Given the description of an element on the screen output the (x, y) to click on. 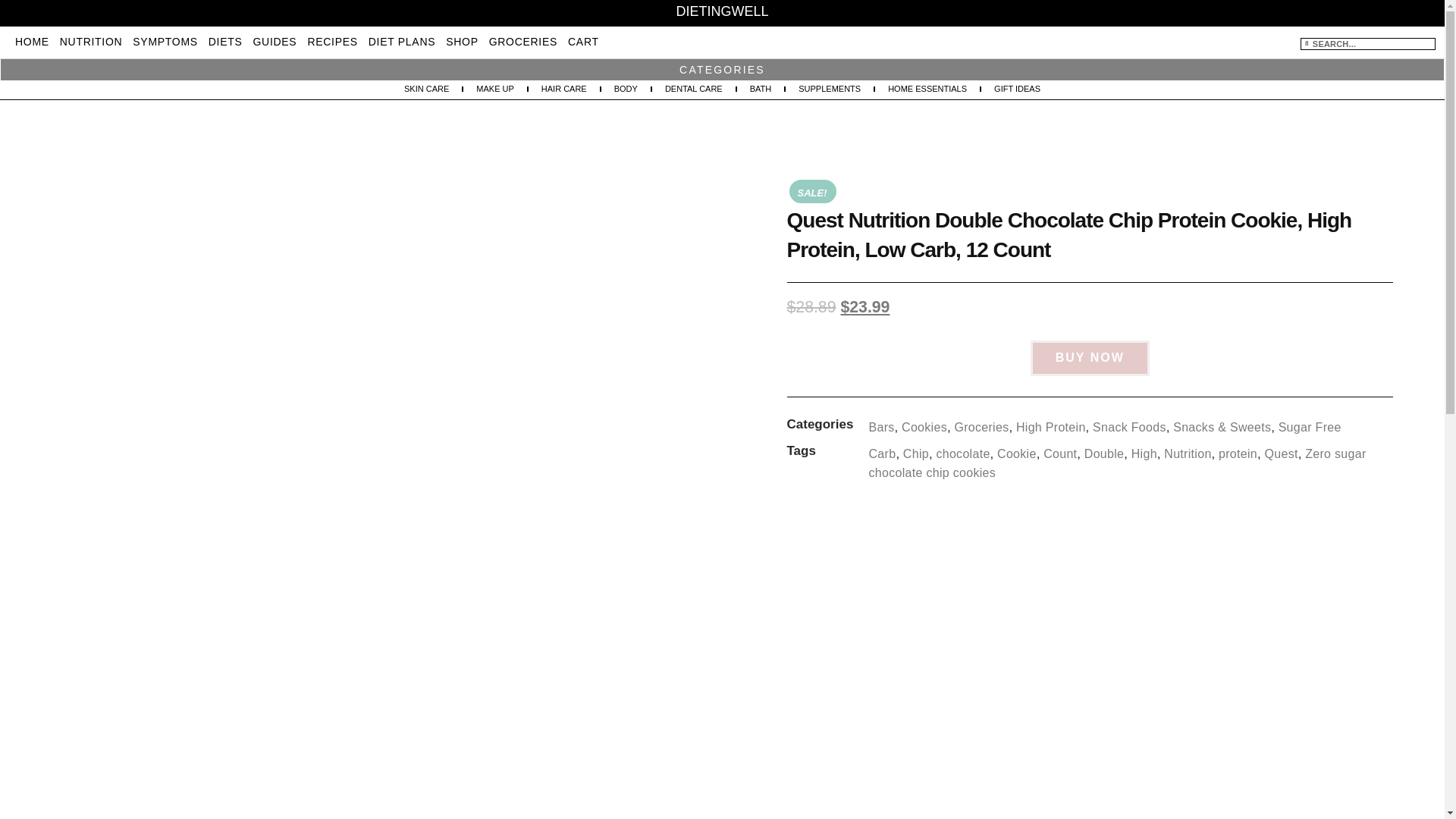
HOME (31, 41)
SYMPTOMS (164, 41)
GUIDES (274, 41)
DIETS (225, 41)
NUTRITION (90, 41)
DIETINGWELL (721, 11)
